Given the description of an element on the screen output the (x, y) to click on. 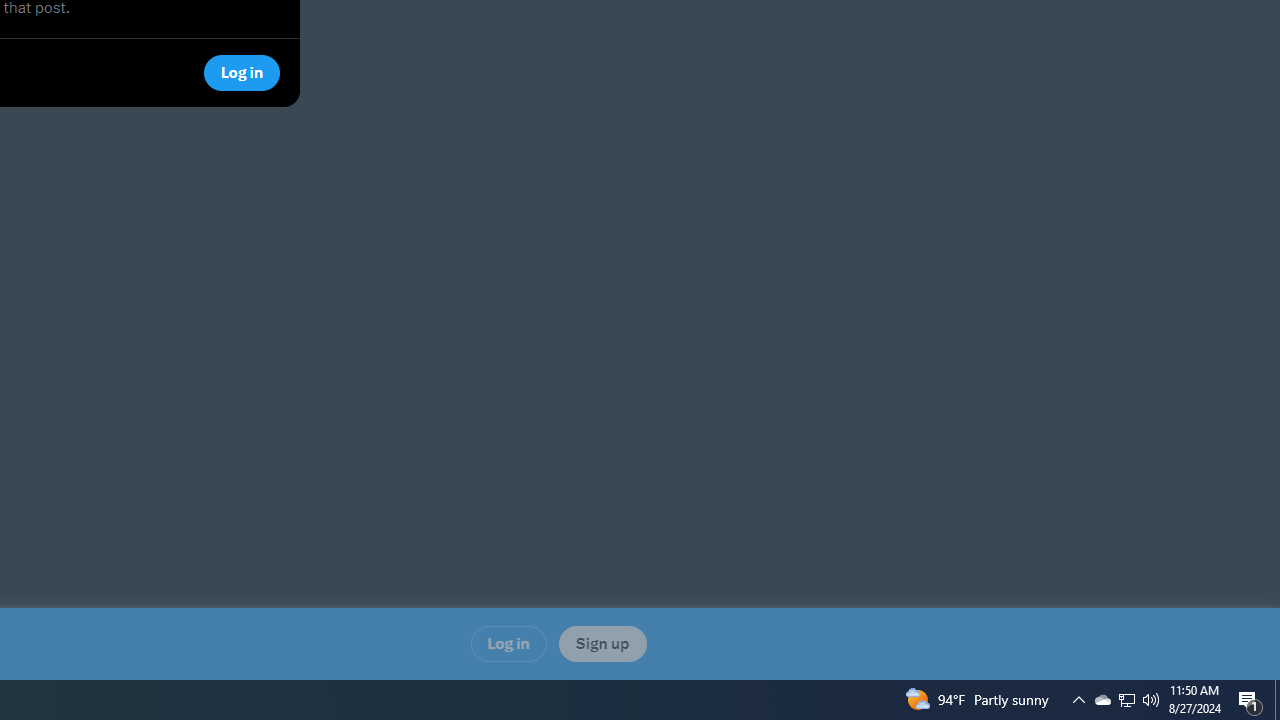
Sign up (602, 643)
Log in (507, 643)
